Given the description of an element on the screen output the (x, y) to click on. 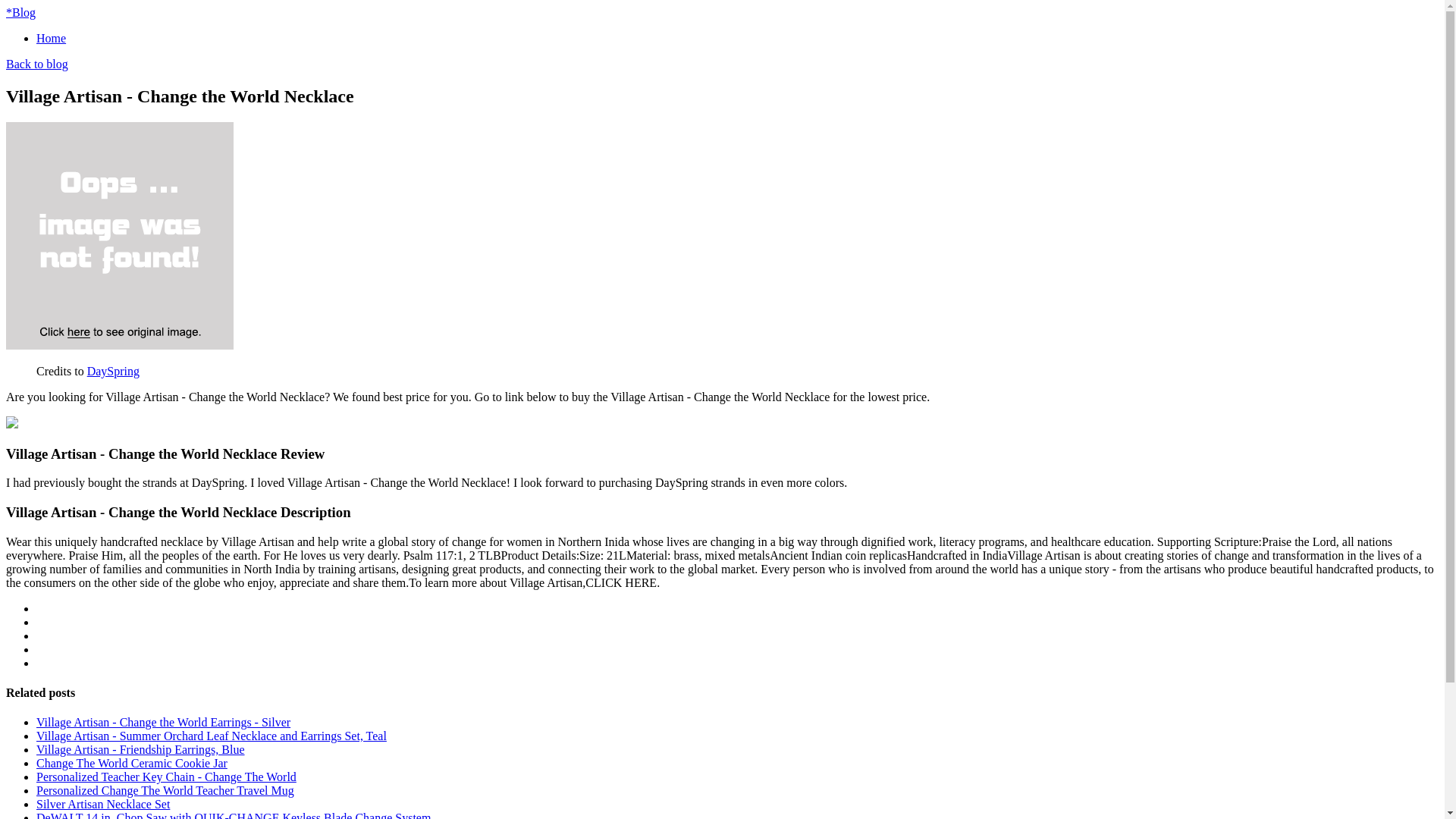
Village Artisan - Change the World Earrings - Silver (162, 721)
Village Artisan - Friendship Earrings, Blue (140, 748)
Village Artisan - Change the World Earrings - Silver (162, 721)
Personalized Change The World Teacher Travel Mug (165, 789)
Personalized Change The World Teacher Travel Mug (165, 789)
Back to blog (36, 63)
Personalized Teacher Key Chain - Change The World (166, 776)
Silver Artisan Necklace Set (103, 803)
Village Artisan - Friendship Earrings, Blue (140, 748)
Change The World Ceramic Cookie Jar (131, 762)
Change The World Ceramic Cookie Jar (131, 762)
Silver Artisan Necklace Set (103, 803)
